Given the description of an element on the screen output the (x, y) to click on. 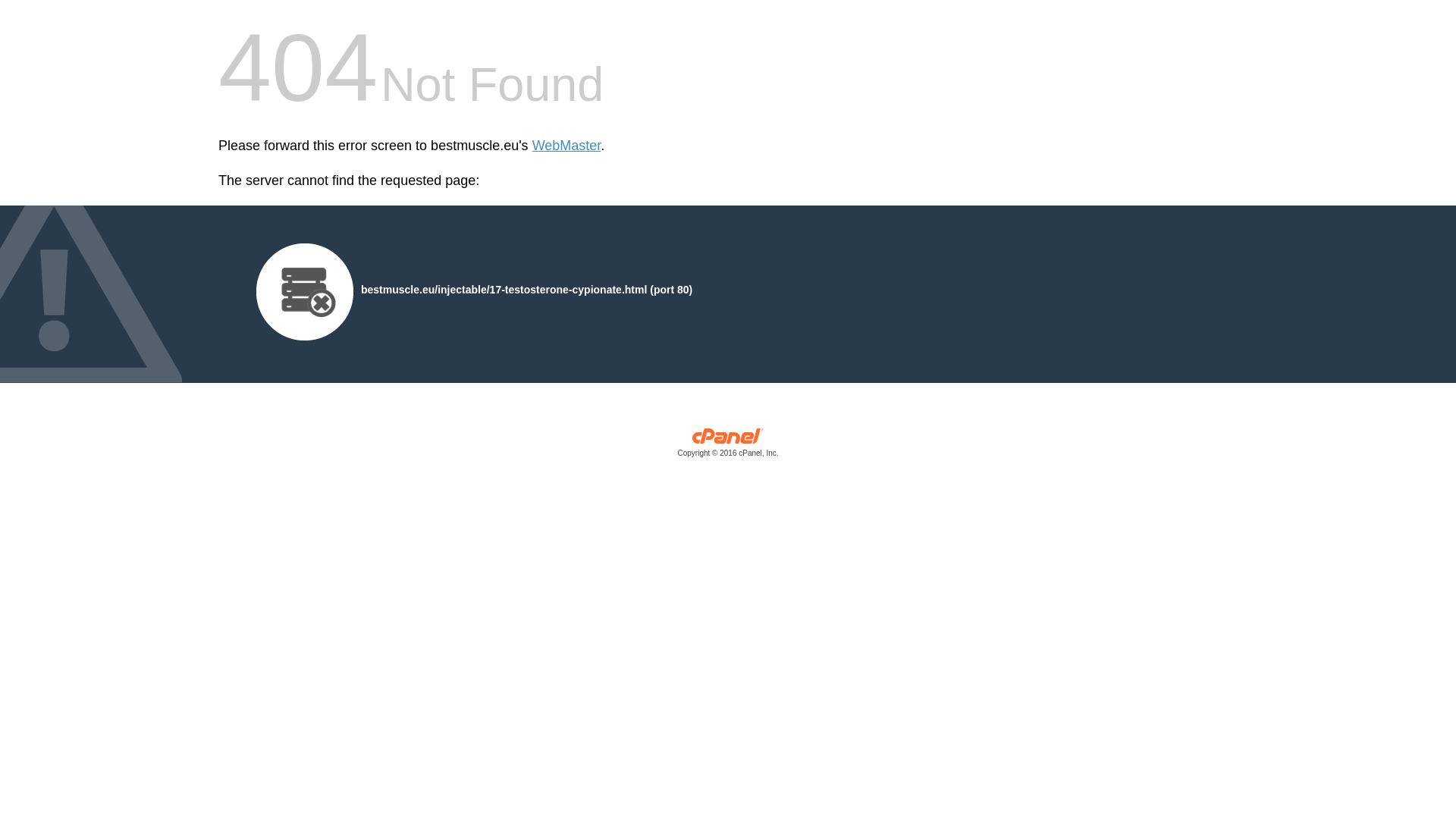
WebMaster (566, 145)
cPanel, Inc. (727, 446)
